Given the description of an element on the screen output the (x, y) to click on. 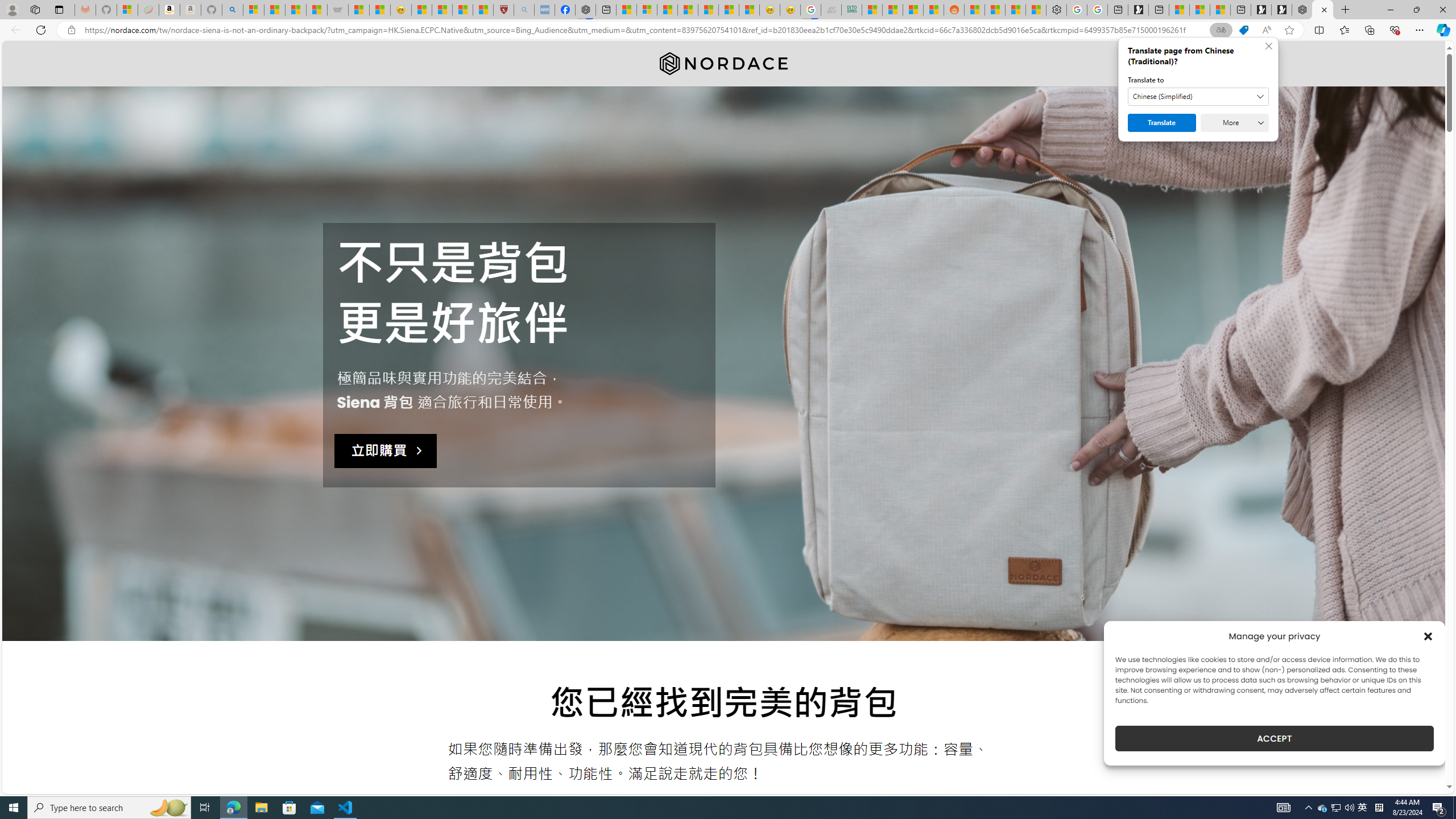
Translate to (1198, 96)
ACCEPT (1274, 738)
Robert H. Shmerling, MD - Harvard Health (503, 9)
